Given the description of an element on the screen output the (x, y) to click on. 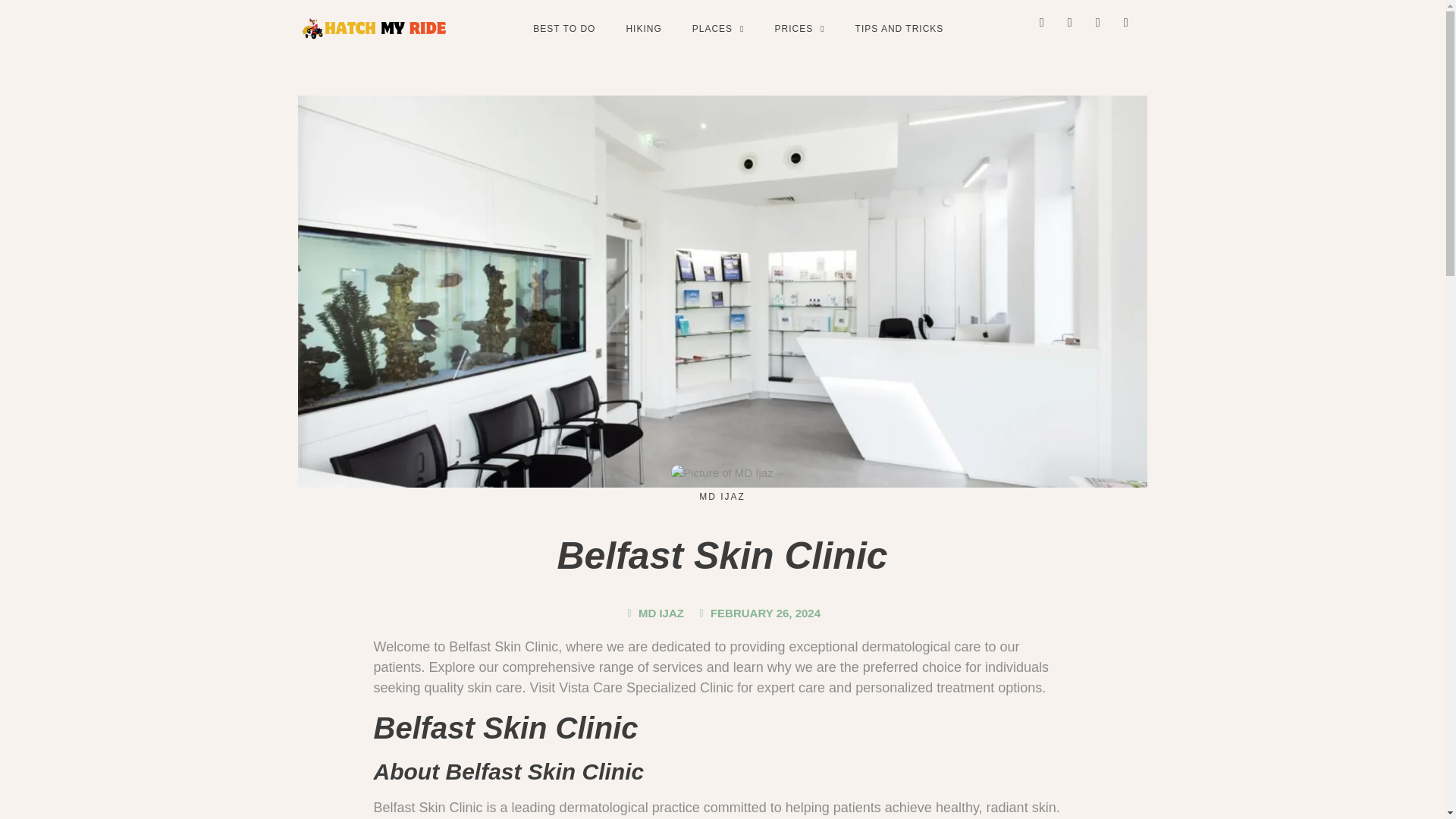
TIPS AND TRICKS (899, 28)
HIKING (643, 28)
PRICES (799, 28)
PLACES (718, 28)
BEST TO DO (564, 28)
